Given the description of an element on the screen output the (x, y) to click on. 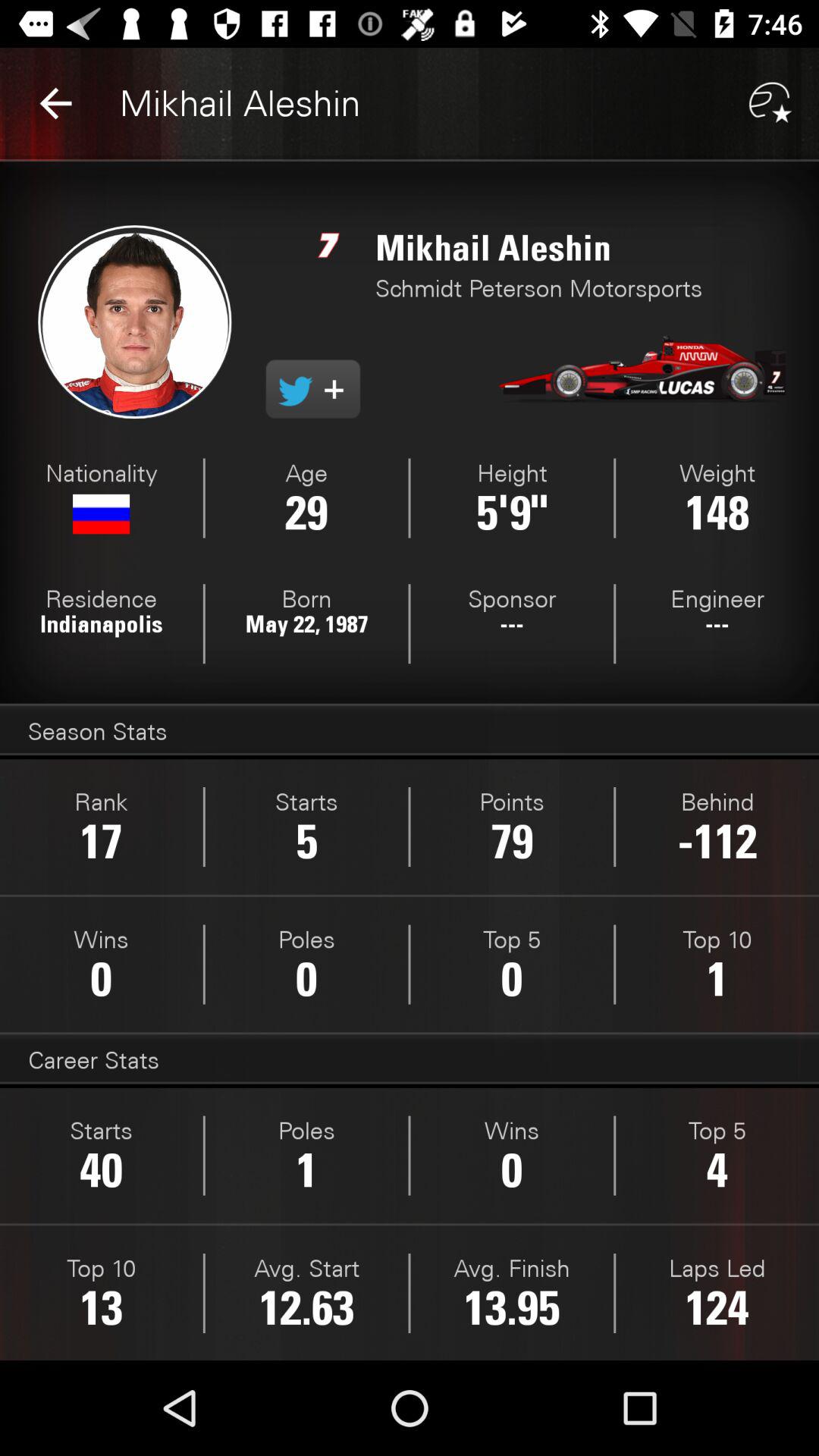
click the icon to the left of the mikhail aleshin (55, 103)
